Given the description of an element on the screen output the (x, y) to click on. 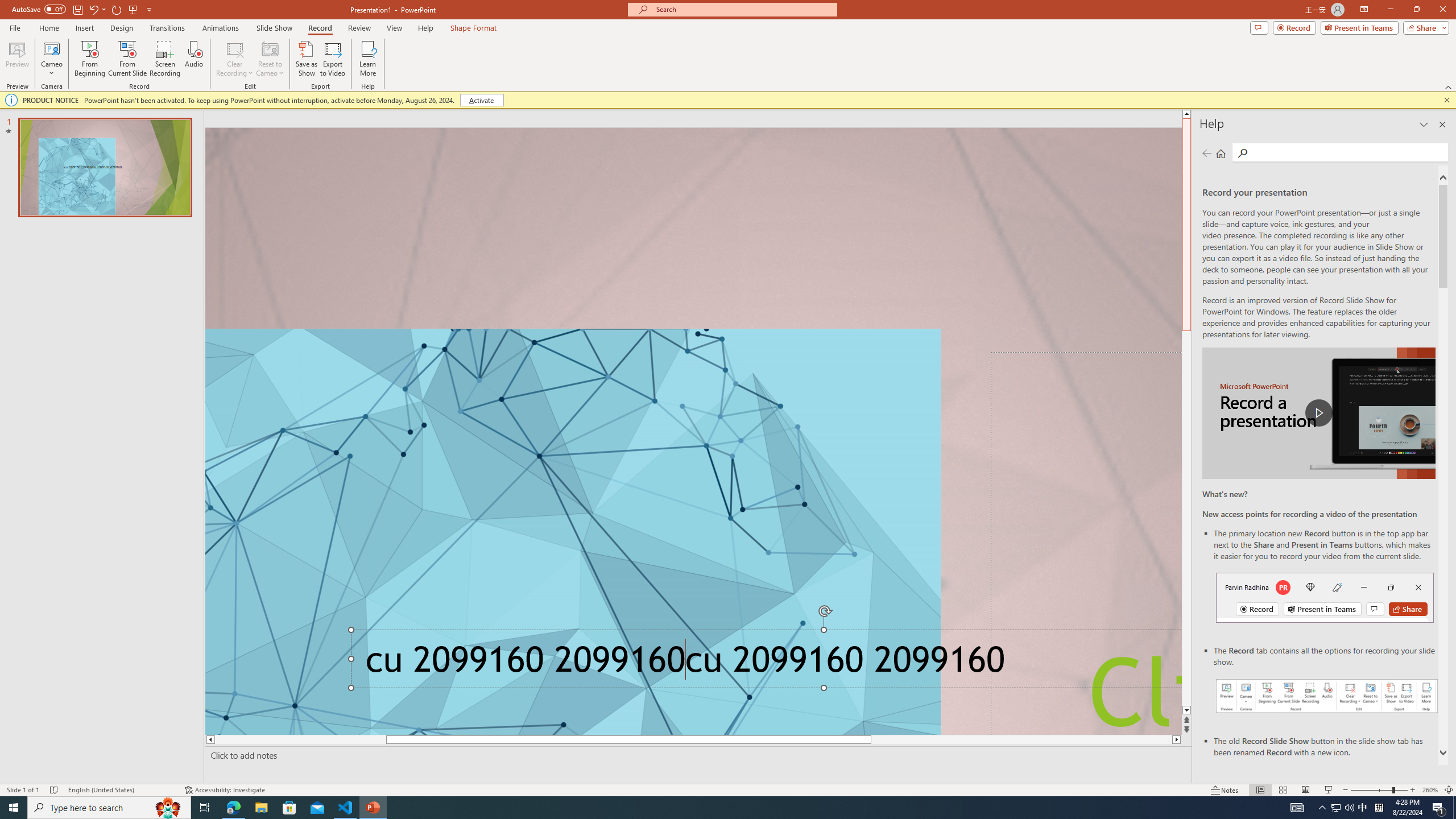
An abstract genetic concept (693, 430)
